Given the description of an element on the screen output the (x, y) to click on. 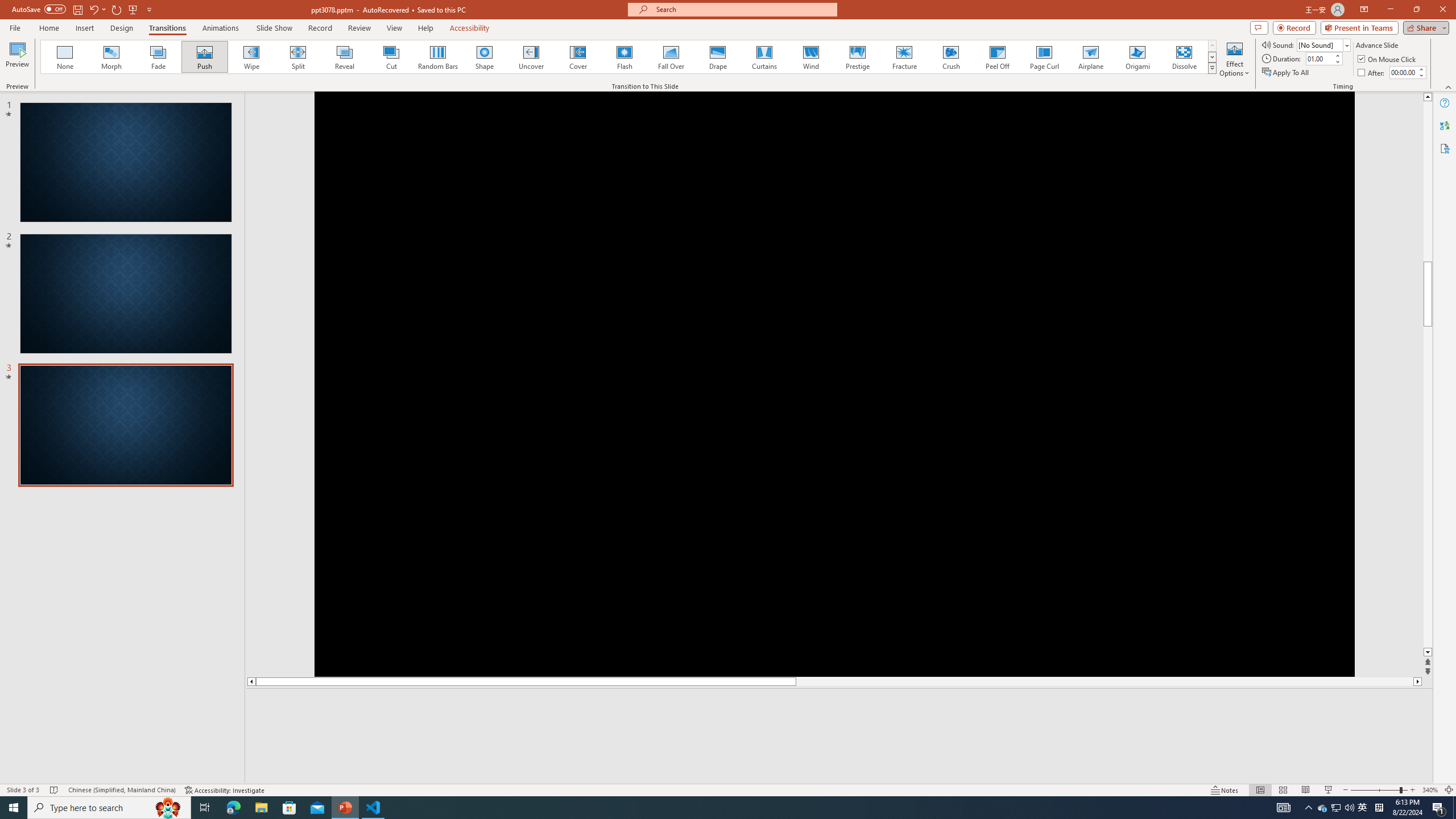
Apply To All (1286, 72)
Shape (484, 56)
Zoom 340% (1430, 790)
Random Bars (437, 56)
Cut (391, 56)
